Given the description of an element on the screen output the (x, y) to click on. 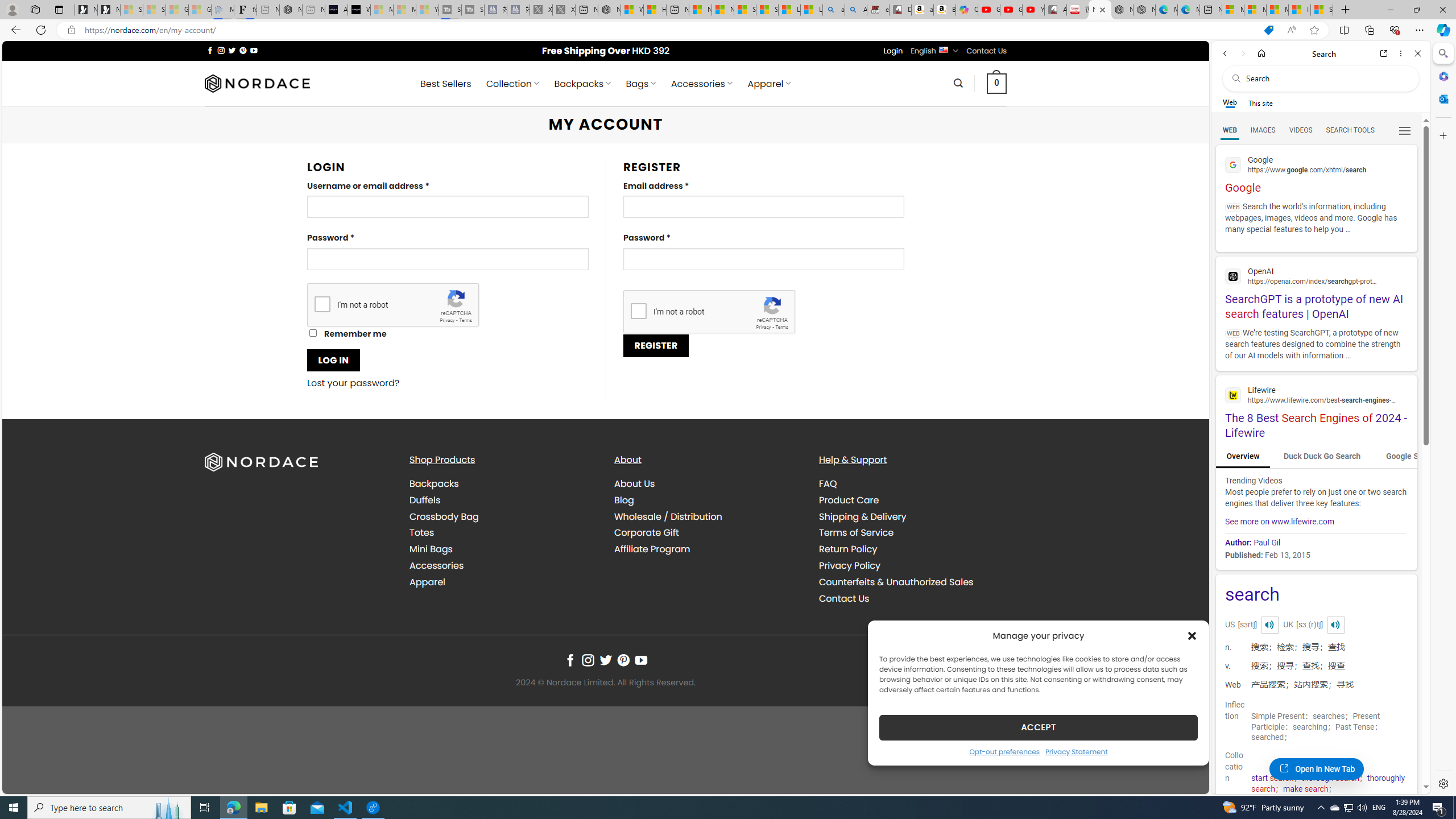
SEARCH TOOLS (1350, 130)
Class: cmplz-close (1192, 635)
I Gained 20 Pounds of Muscle in 30 Days! | Watch (1300, 9)
Privacy Policy (912, 565)
Product Care (912, 499)
Return Policy (912, 549)
